Given the description of an element on the screen output the (x, y) to click on. 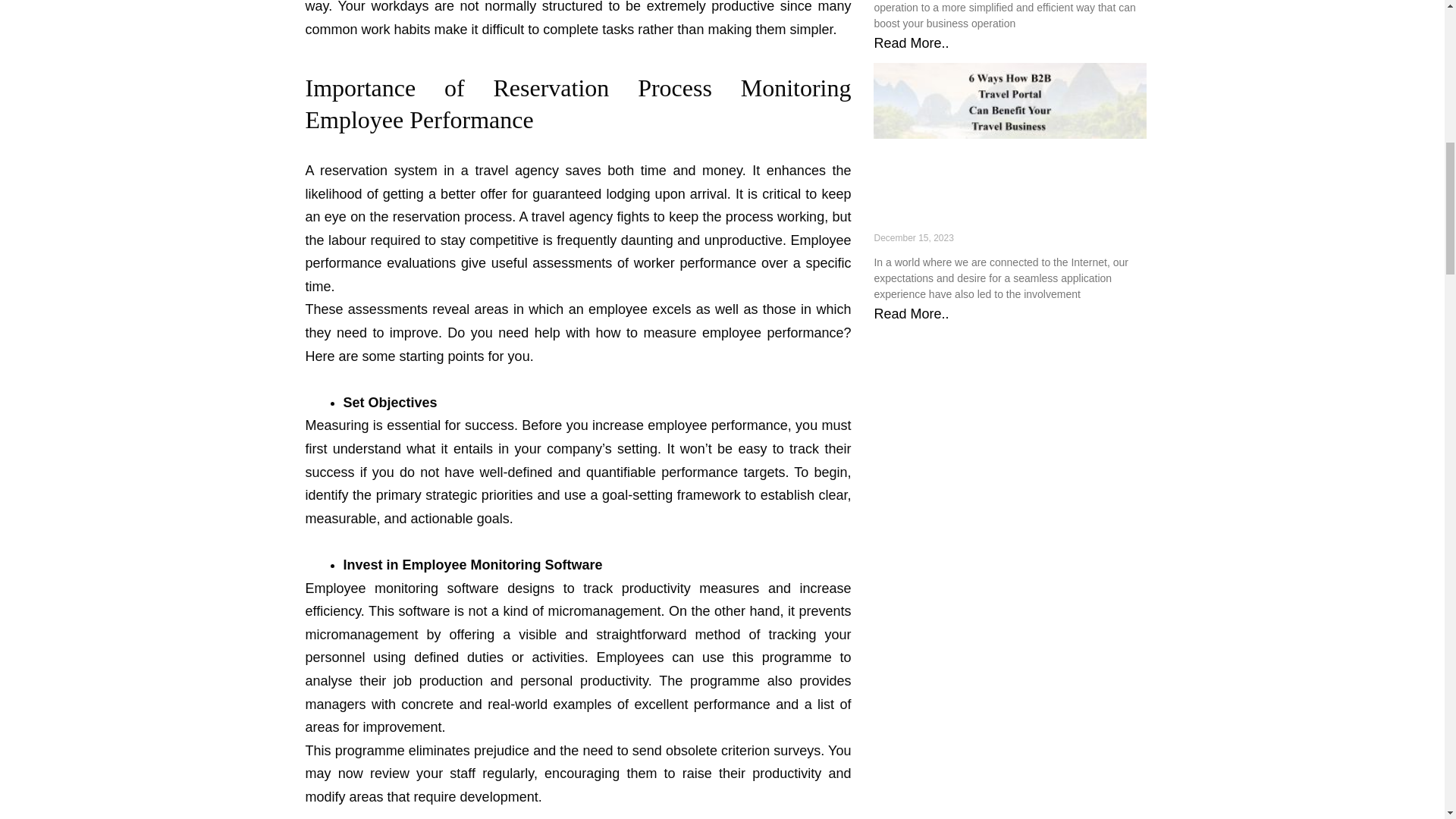
Read More.. (911, 313)
Read More.. (911, 43)
